Given the description of an element on the screen output the (x, y) to click on. 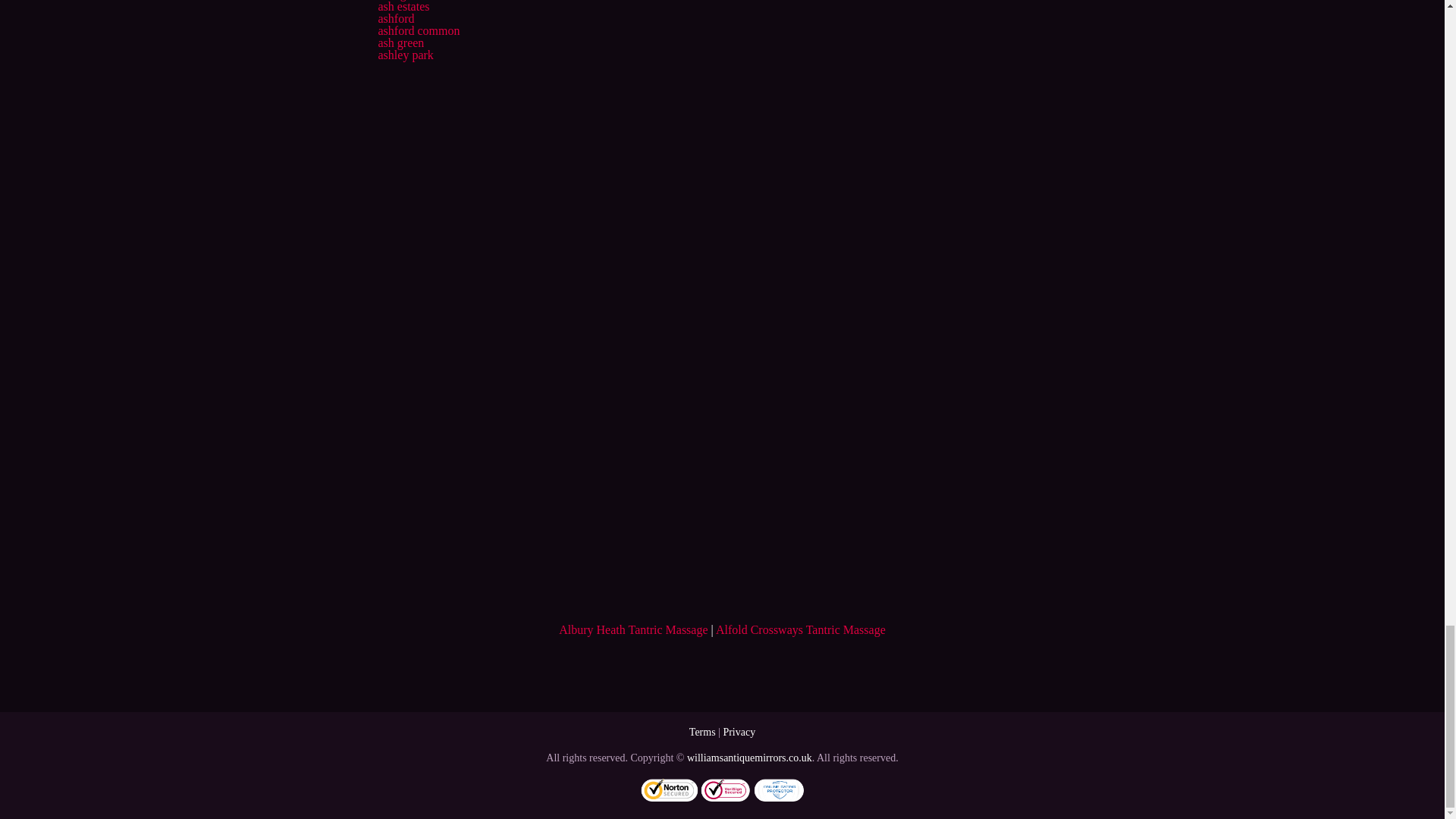
Privacy (738, 731)
williamsantiquemirrors.co.uk (749, 757)
Albury Heath Tantric Massage (633, 629)
artington (399, 0)
Alfold Crossways Tantric Massage (800, 629)
ash estates (403, 6)
Terms (702, 731)
Privacy (738, 731)
ash green (400, 42)
ashford (395, 18)
ashford common (418, 30)
ashley park (404, 54)
Terms (702, 731)
